Given the description of an element on the screen output the (x, y) to click on. 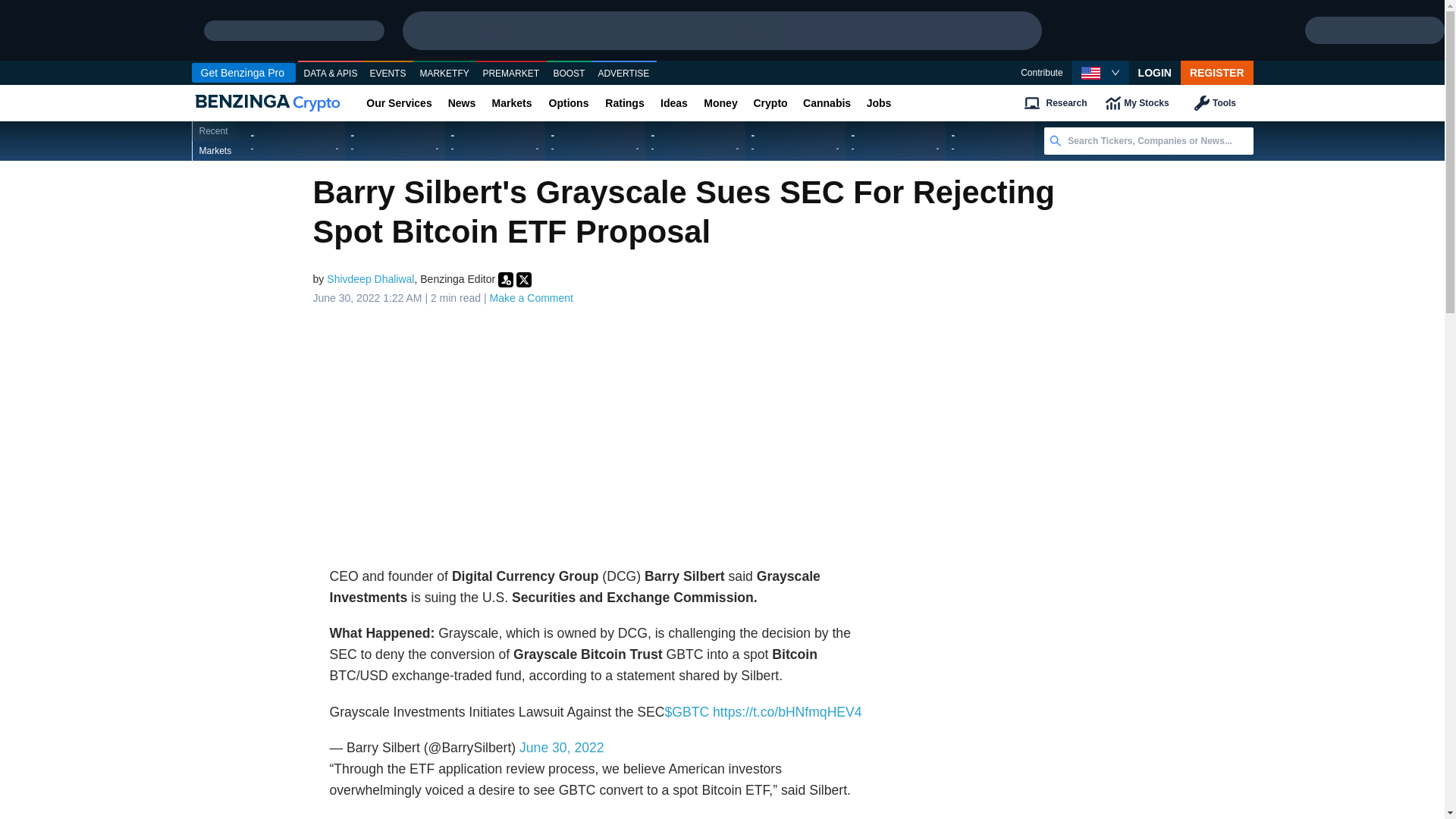
Our Services (398, 103)
News (461, 103)
PREMARKET (511, 73)
USA (1090, 72)
REGISTER (1216, 72)
Our Services (398, 103)
ADVERTISE (623, 73)
EVENTS (387, 73)
MARKETFY (444, 73)
News (461, 103)
